Given the description of an element on the screen output the (x, y) to click on. 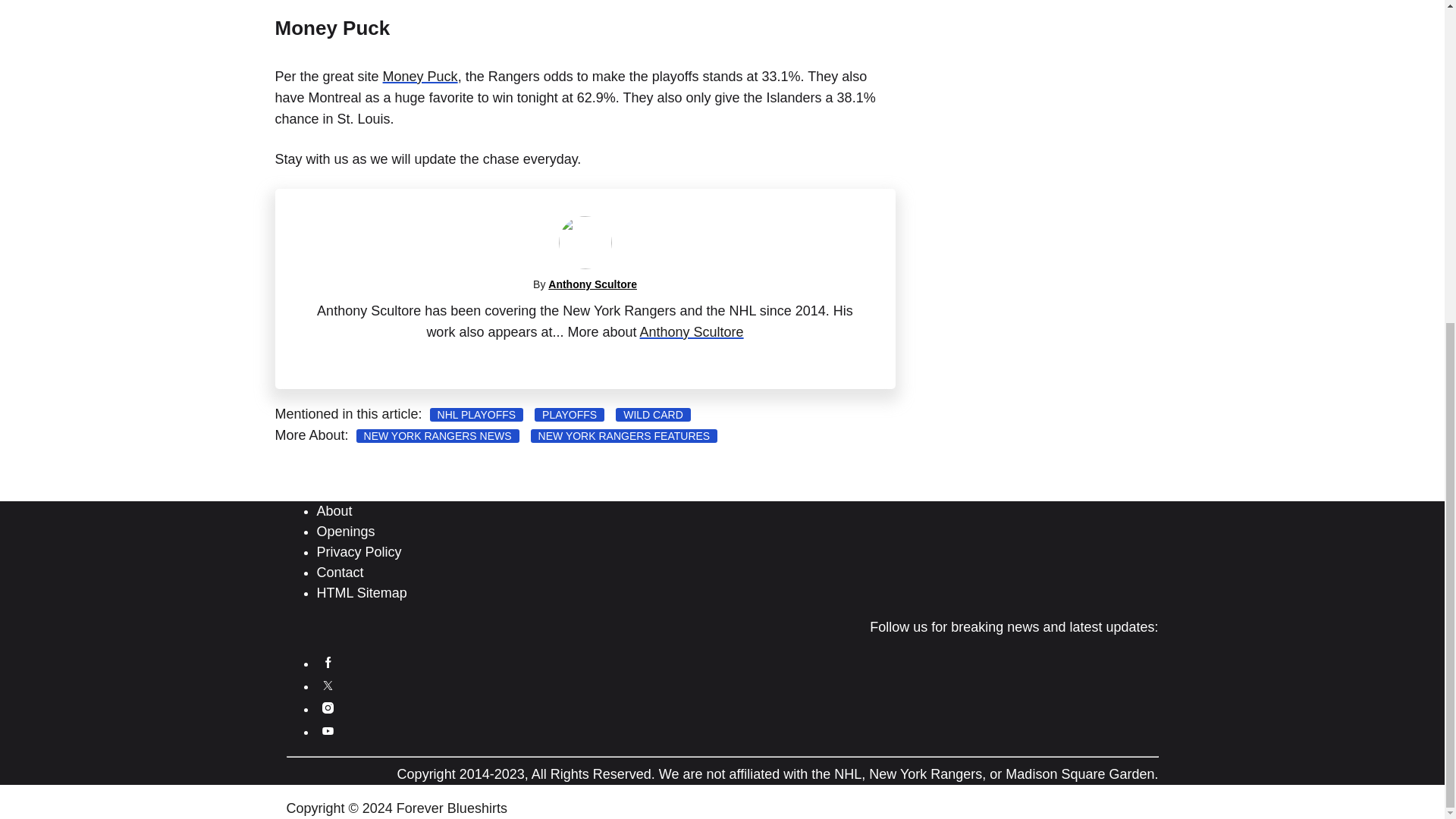
Money Puck (420, 76)
NHL PLAYOFFS (475, 414)
Follow us on Twitter (328, 685)
NEW YORK RANGERS FEATURES (624, 436)
Subscribe to our YouTube channel (328, 730)
Follow us on Instagram (328, 707)
Anthony Scultore (692, 331)
PLAYOFFS (569, 414)
HTML Sitemap (362, 592)
WILD CARD (652, 414)
Anthony Scultore (592, 284)
Privacy Policy (359, 551)
About (334, 510)
Openings (346, 531)
Contact (340, 572)
